Given the description of an element on the screen output the (x, y) to click on. 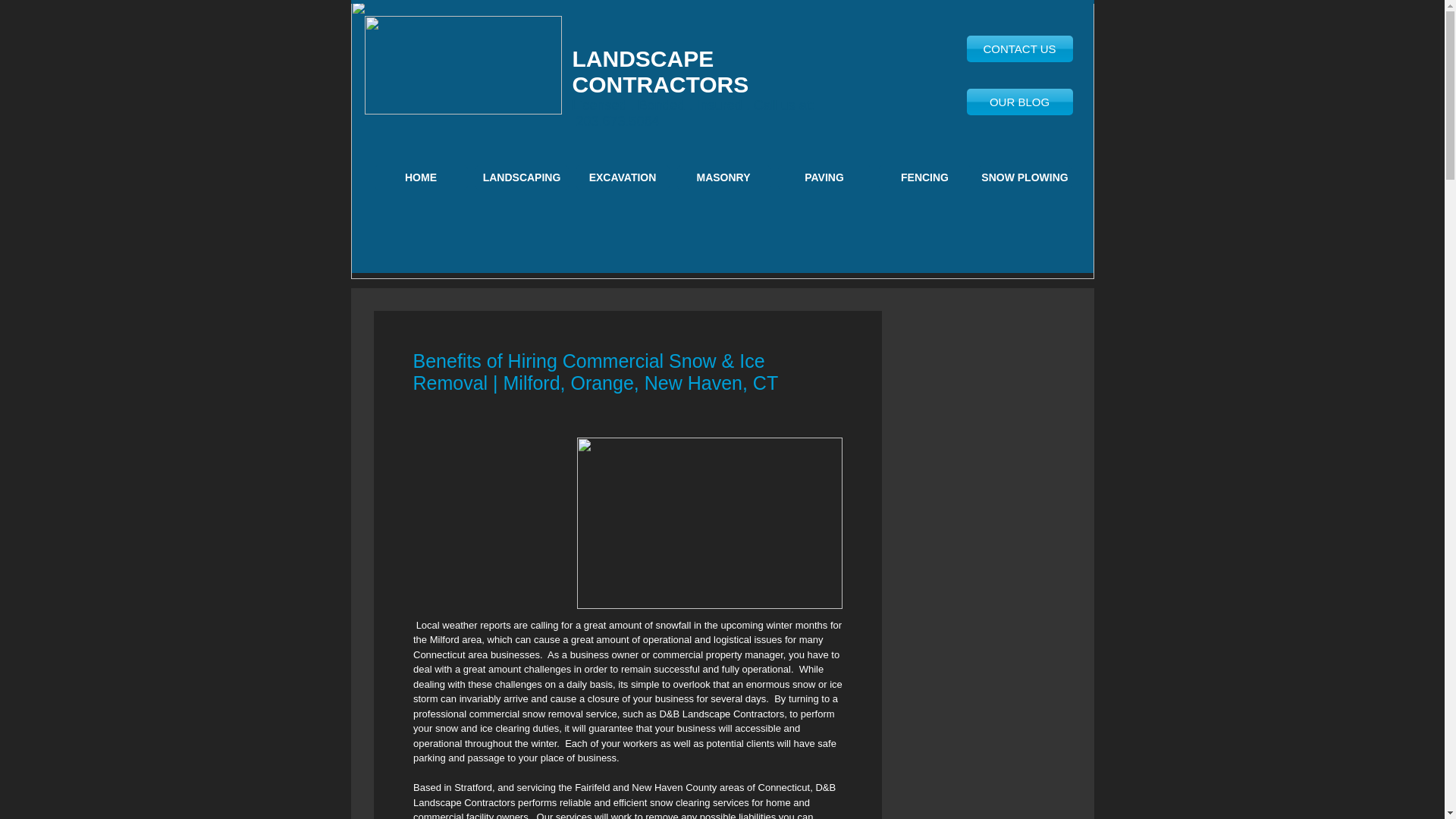
SNOW PLOWING (1024, 177)
MASONRY (723, 177)
HOME (420, 177)
LANDSCAPING (520, 177)
FENCING (924, 177)
OUR BLOG (1018, 101)
CONTACT US (1018, 49)
PAVING (823, 177)
EXCAVATION (622, 177)
DBWEBOVALKO.png (462, 64)
